Given the description of an element on the screen output the (x, y) to click on. 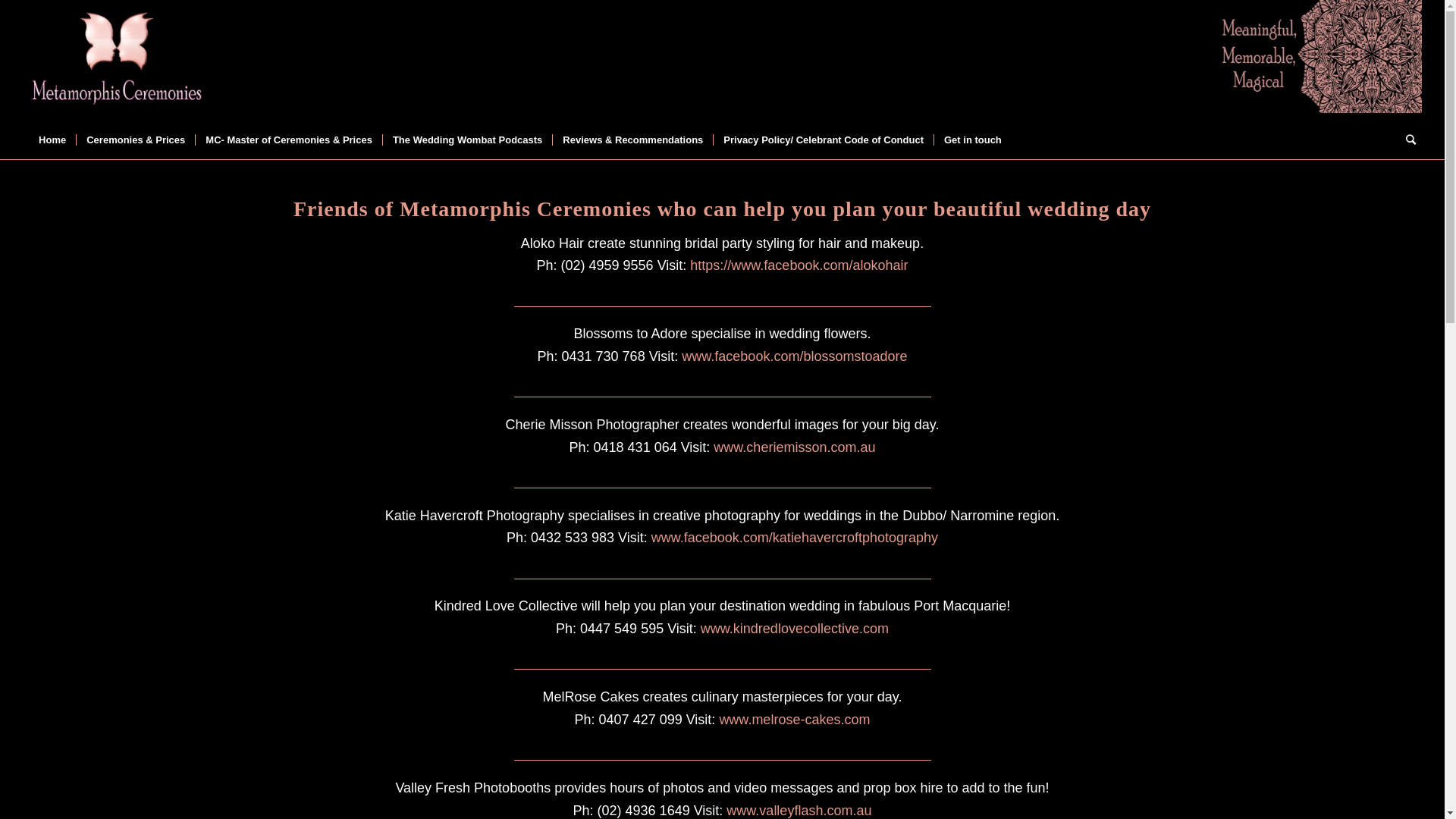
Get in touch Element type: text (972, 140)
https://www.facebook.com/alokohair Element type: text (798, 265)
www.facebook.com/katiehavercroftphotography Element type: text (794, 537)
Privacy Policy/ Celebrant Code of Conduct Element type: text (822, 140)
www.facebook.com/blossomstoadore Element type: text (793, 356)
www.kindredlovecollective.com Element type: text (794, 628)
www.valleyflash.com.au Element type: text (798, 809)
www.melrose-cakes.com Element type: text (793, 719)
Home Element type: text (51, 140)
Reviews & Recommendations Element type: text (632, 140)
www.cheriemisson.com.au Element type: text (794, 447)
Ceremonies & Prices Element type: text (134, 140)
The Wedding Wombat Podcasts Element type: text (467, 140)
MC- Master of Ceremonies & Prices Element type: text (288, 140)
